Given the description of an element on the screen output the (x, y) to click on. 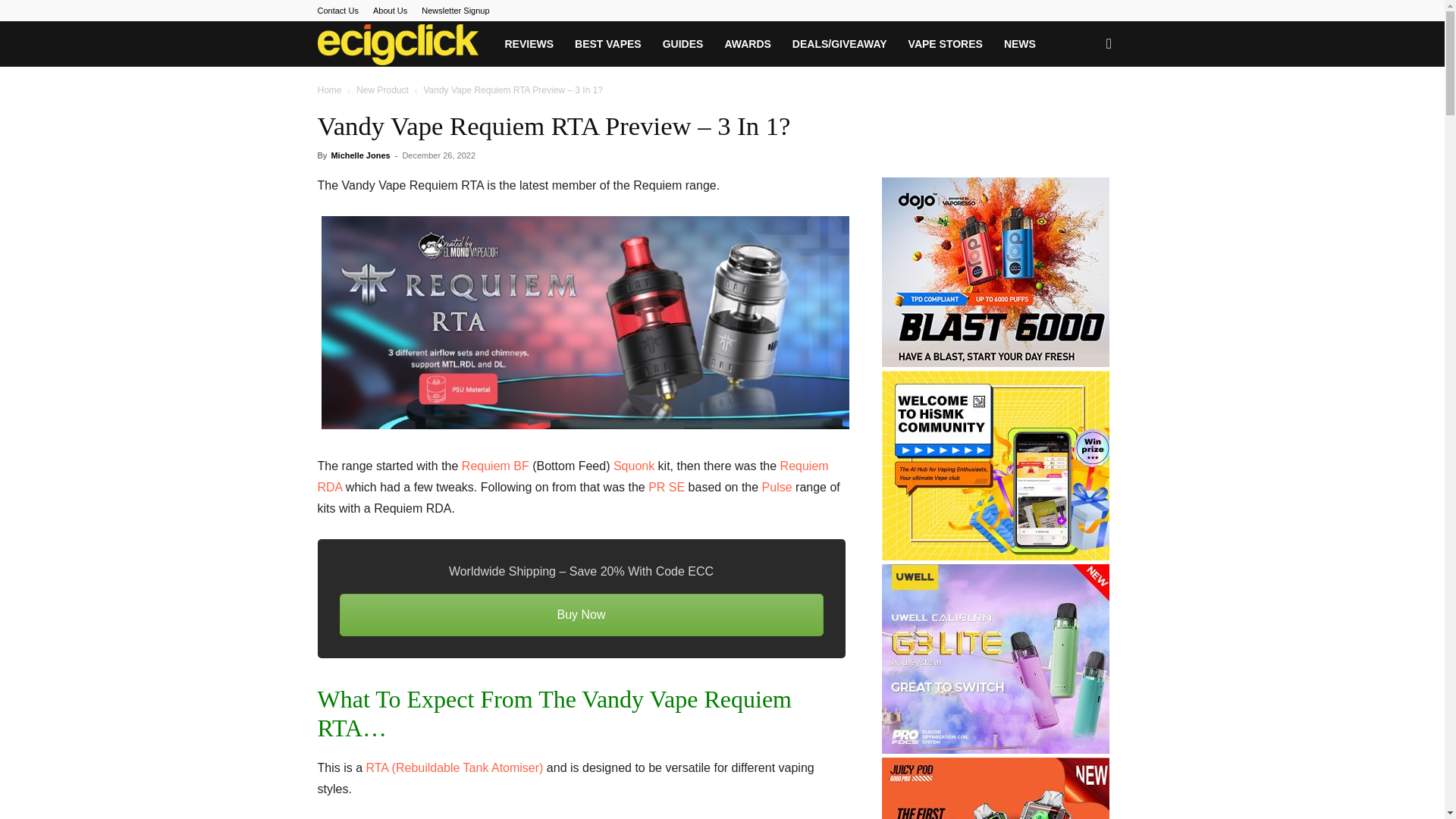
Ecigclick (398, 44)
View all posts in New Product (382, 90)
